Given the description of an element on the screen output the (x, y) to click on. 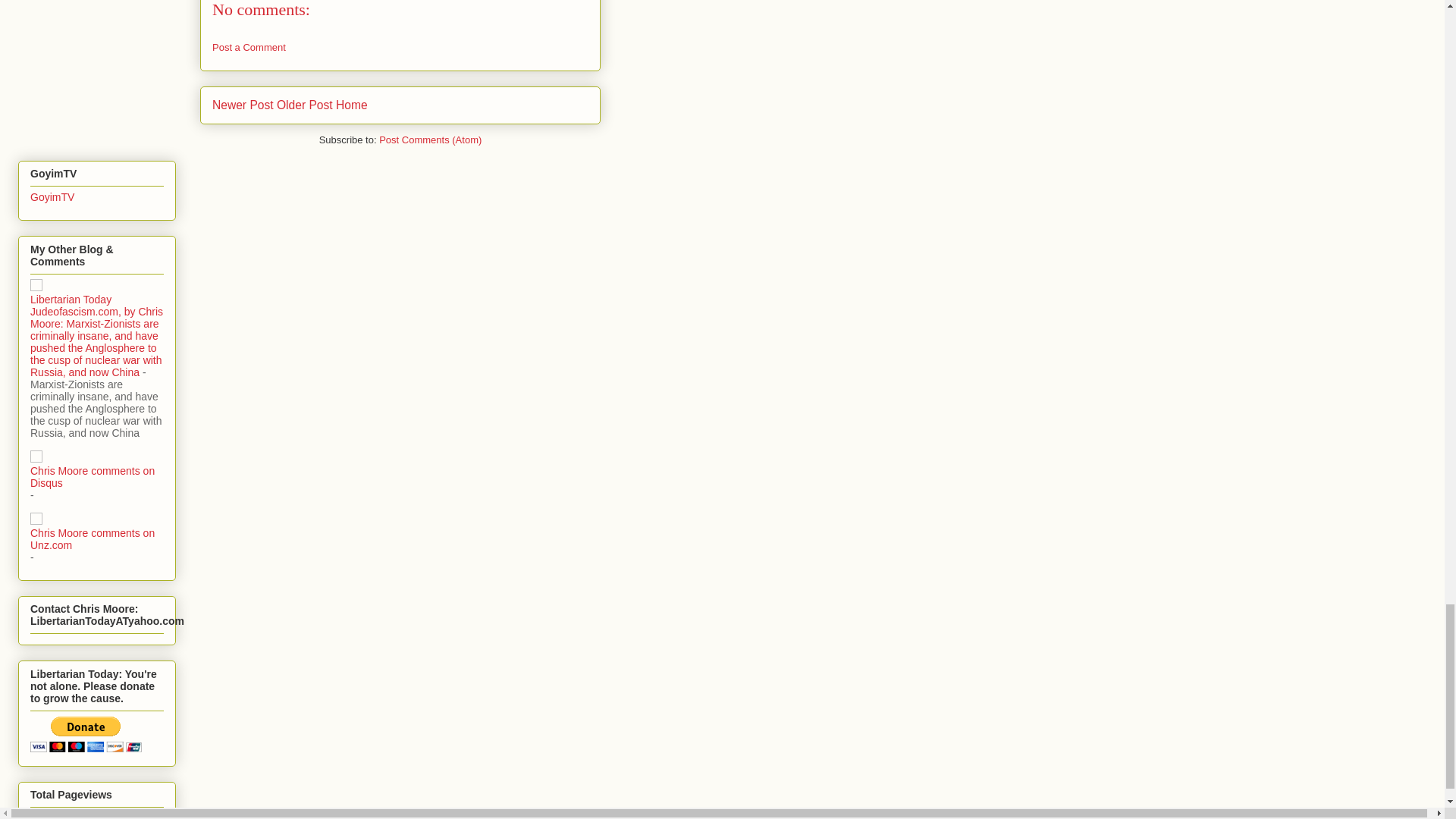
Newer Post (242, 104)
Older Post (304, 104)
Older Post (304, 104)
Post a Comment (248, 47)
GoyimTV (52, 196)
Home (352, 104)
Chris Moore comments on Unz.com (92, 539)
Libertarian Today (71, 299)
PayPal - The safer, easier way to pay online! (85, 734)
Chris Moore comments on Disqus (92, 476)
Newer Post (242, 104)
